Given the description of an element on the screen output the (x, y) to click on. 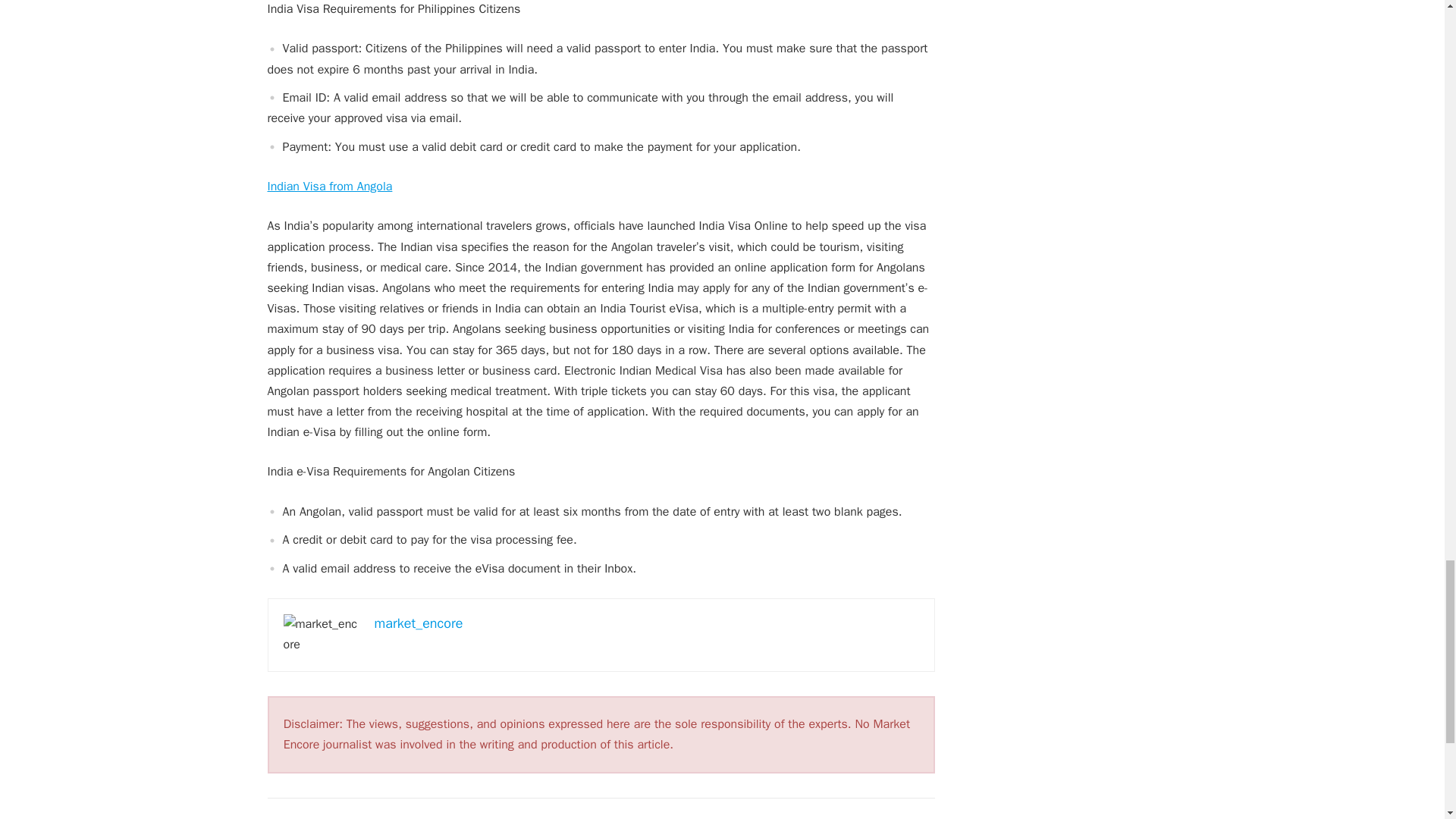
Indian Visa from Angola (328, 186)
